Given the description of an element on the screen output the (x, y) to click on. 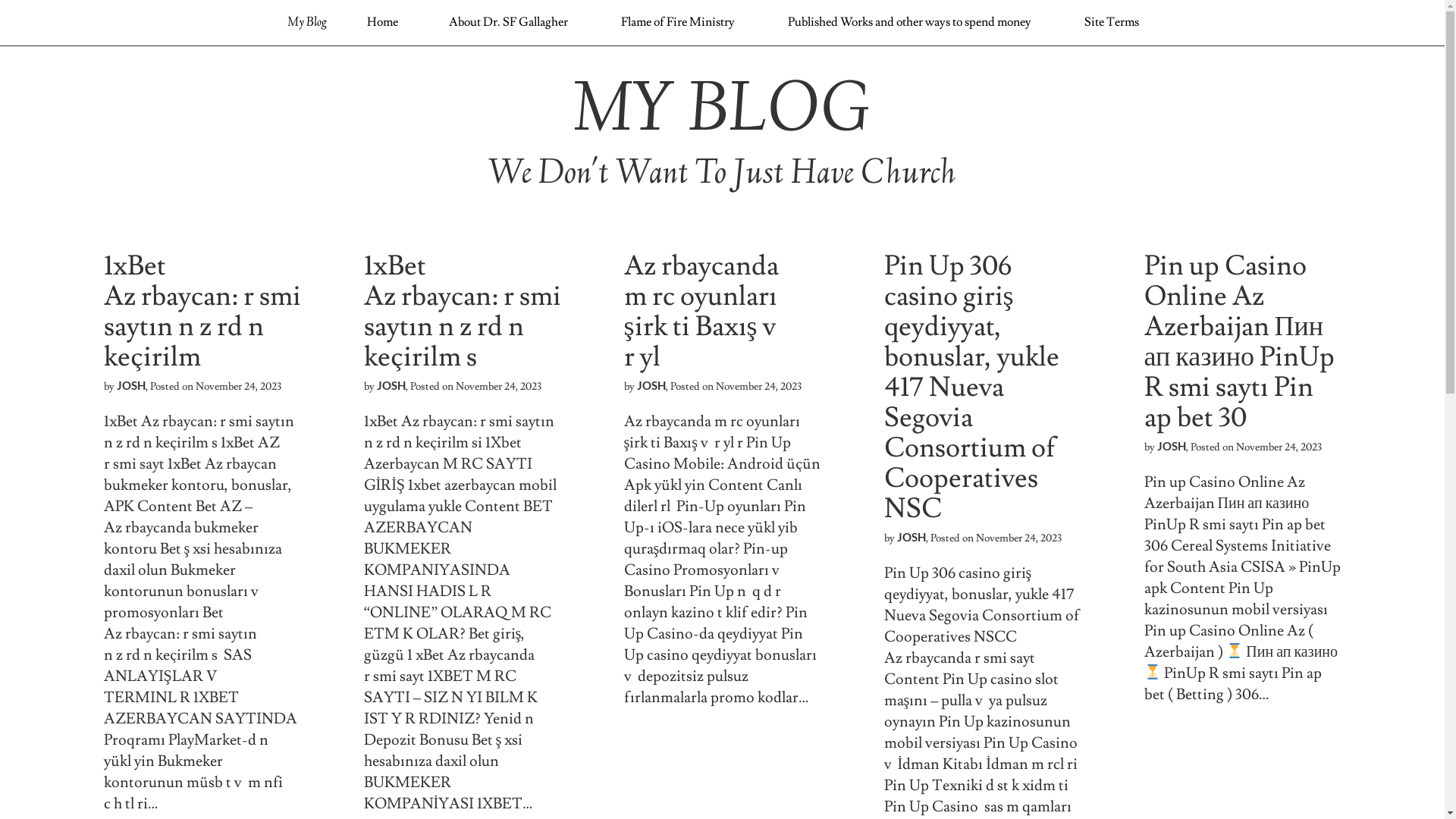
FLAME OF FIRE MINISTRY Element type: text (658, 65)
JOSH Element type: text (910, 536)
SITE TERMS Element type: text (1057, 65)
Flame of Fire Ministry Element type: text (677, 21)
JOSH Element type: text (1171, 445)
JOSH Element type: text (390, 385)
About Dr. SF Gallagher Element type: text (508, 21)
PUBLISHED WORKS AND OTHER WAYS TO SPEND MONEY Element type: text (870, 65)
Published Works and other ways to spend money Element type: text (909, 21)
Site Terms Element type: text (1111, 21)
JOSH Element type: text (130, 385)
HOME Element type: text (386, 65)
ABOUT DR. SF GALLAGHER Element type: text (502, 65)
JOSH Element type: text (651, 385)
Home Element type: text (382, 21)
November 24, 2023 Element type: text (1278, 447)
November 24, 2023 Element type: text (238, 386)
November 24, 2023 Element type: text (1017, 538)
November 24, 2023 Element type: text (758, 386)
November 24, 2023 Element type: text (497, 386)
